Given the description of an element on the screen output the (x, y) to click on. 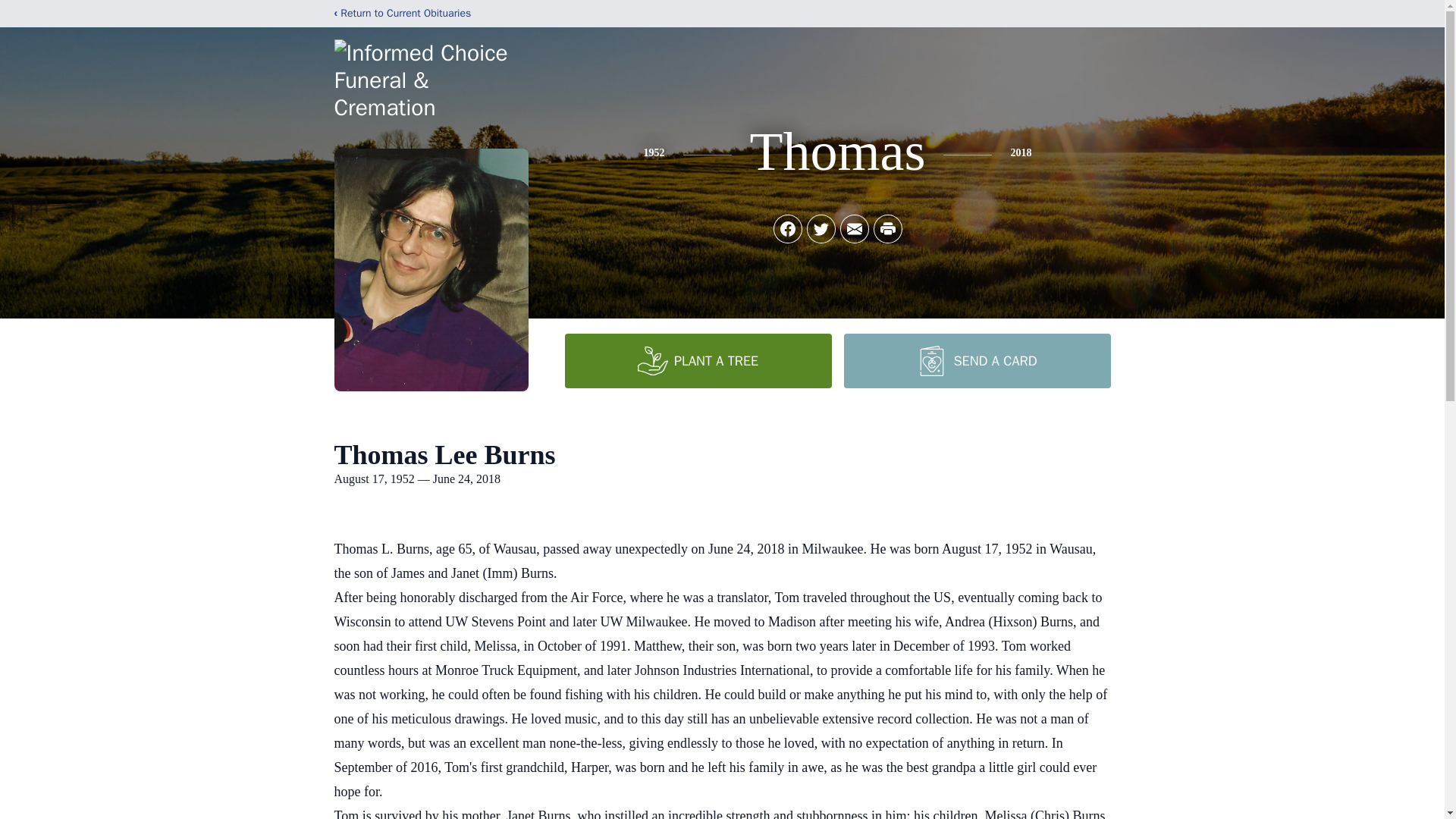
SEND A CARD (976, 360)
PLANT A TREE (697, 360)
